Given the description of an element on the screen output the (x, y) to click on. 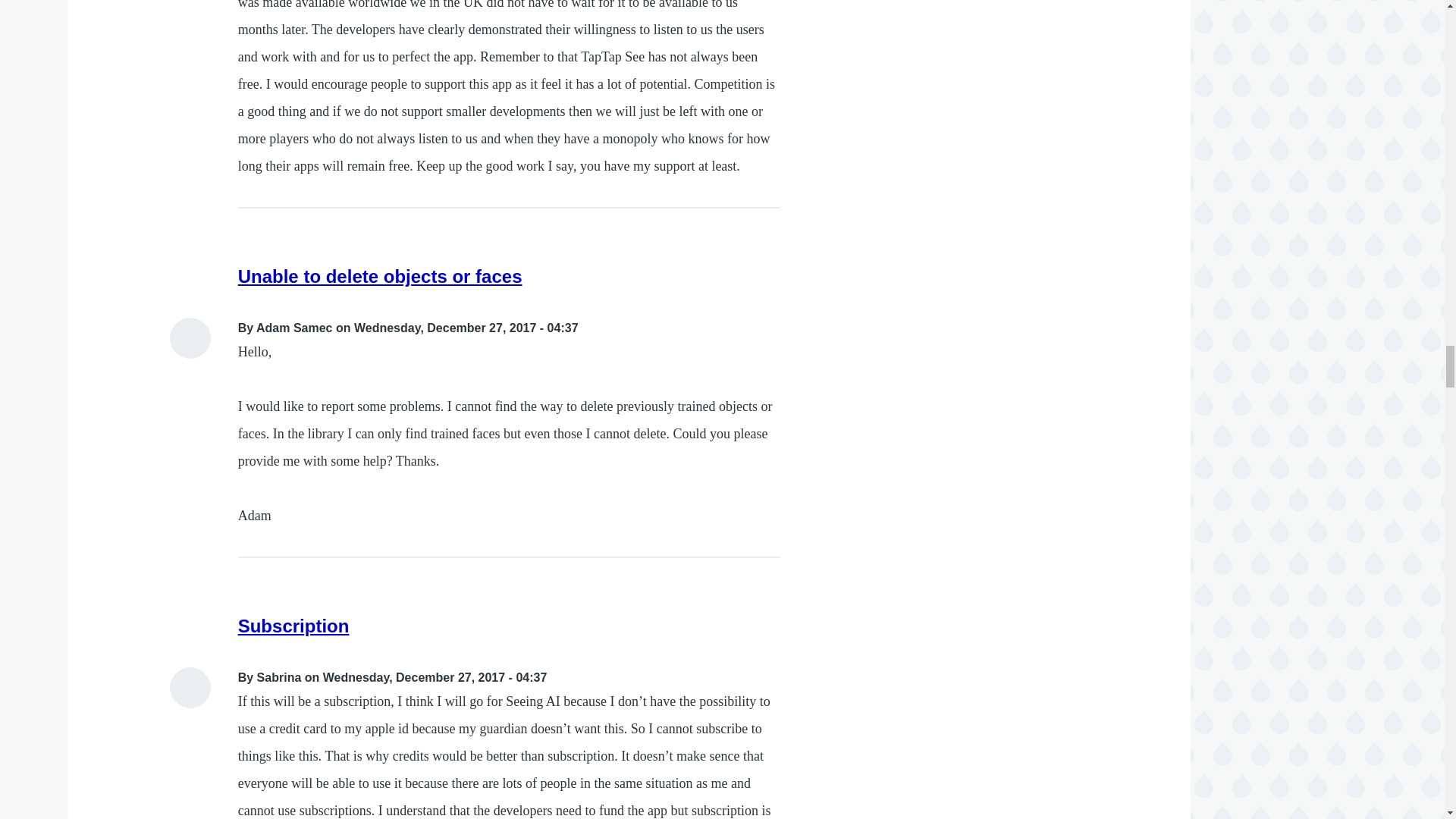
Subscription (293, 625)
Unable to delete objects or faces (380, 276)
